Given the description of an element on the screen output the (x, y) to click on. 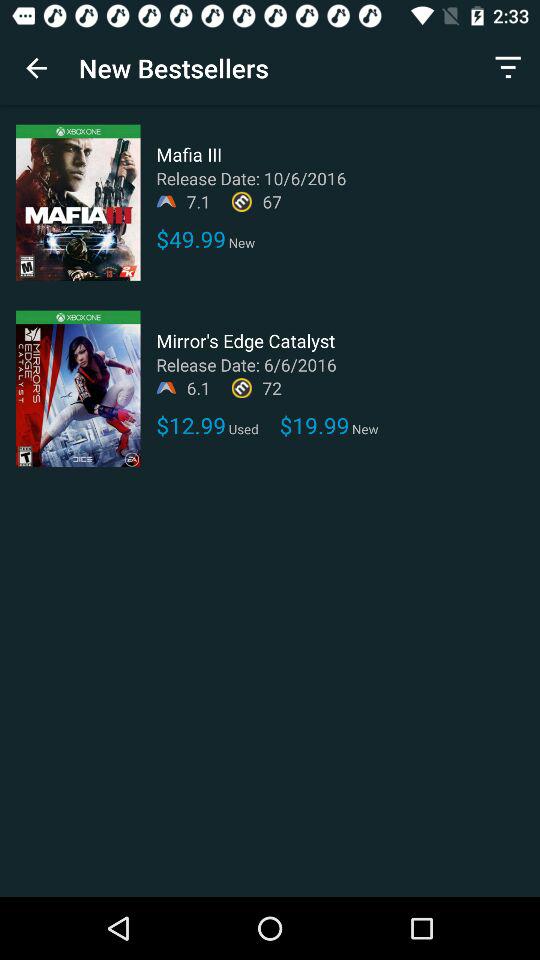
turn off icon at the top right corner (508, 67)
